Given the description of an element on the screen output the (x, y) to click on. 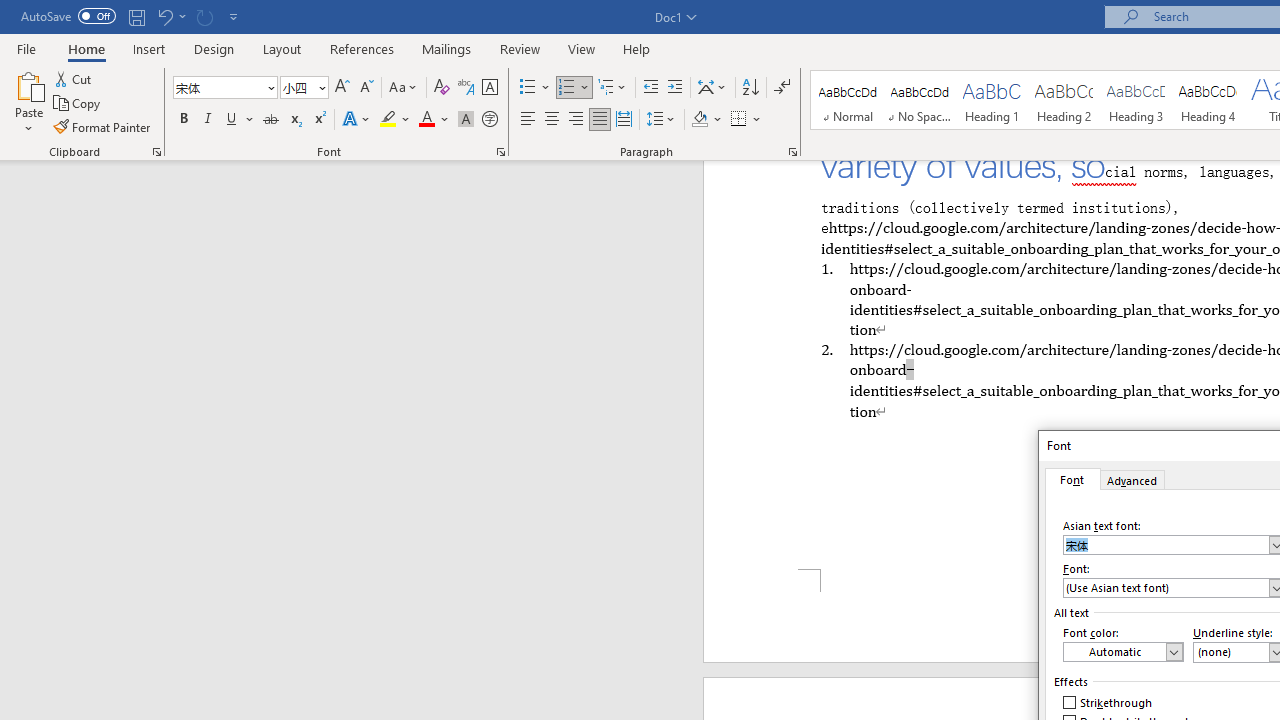
RichEdit Control (1166, 587)
Home (86, 48)
AutoSave (68, 16)
Undo Apply Quick Style (164, 15)
Center (552, 119)
Font Color (Automatic) (1123, 651)
Show/Hide Editing Marks (781, 87)
Font Color (434, 119)
Borders (746, 119)
Help (637, 48)
File Tab (26, 48)
Insert (149, 48)
Cut (73, 78)
Numbering (573, 87)
